Given the description of an element on the screen output the (x, y) to click on. 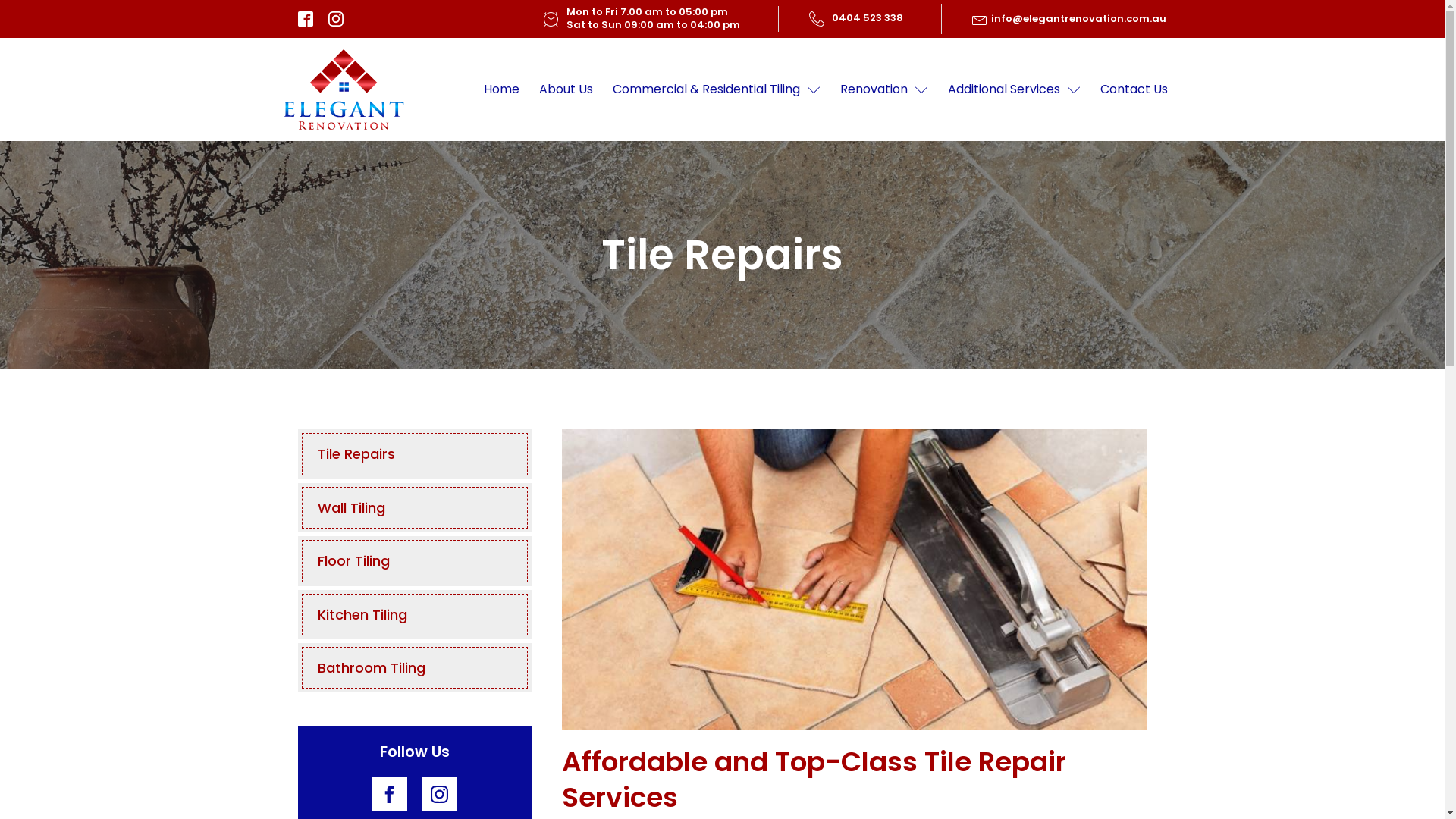
Additional Services Element type: text (1014, 89)
Home Element type: text (501, 89)
Floor Tiling Element type: text (414, 560)
Contact Us Element type: text (1133, 89)
Commercial & Residential Tiling Element type: text (716, 89)
Bathroom Tiling Element type: text (414, 667)
0404 523 338 Element type: text (866, 18)
About Us Element type: text (565, 89)
info@elegantrenovation.com.au Element type: text (1076, 18)
Kitchen Tiling Element type: text (414, 614)
Tile Repairs Element type: text (414, 453)
Wall Tiling Element type: text (414, 507)
Renovation Element type: text (884, 89)
